Given the description of an element on the screen output the (x, y) to click on. 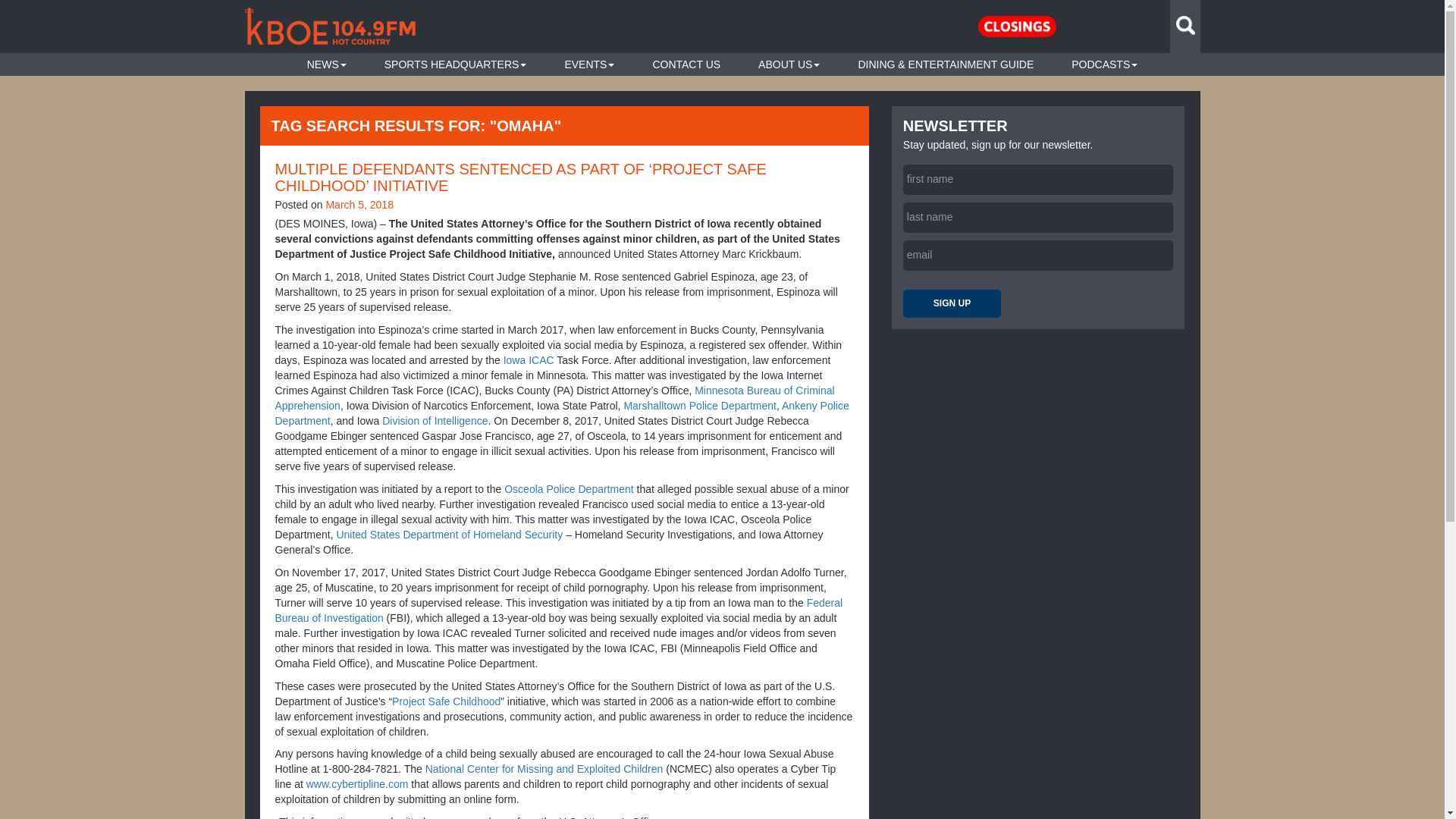
EVENTS (589, 64)
ABOUT US (788, 64)
PODCASTS (1103, 64)
CONTACT US (686, 64)
March 5, 2018 (358, 204)
NEWS (326, 64)
SPORTS HEADQUARTERS (455, 64)
Sign up (951, 303)
